Given the description of an element on the screen output the (x, y) to click on. 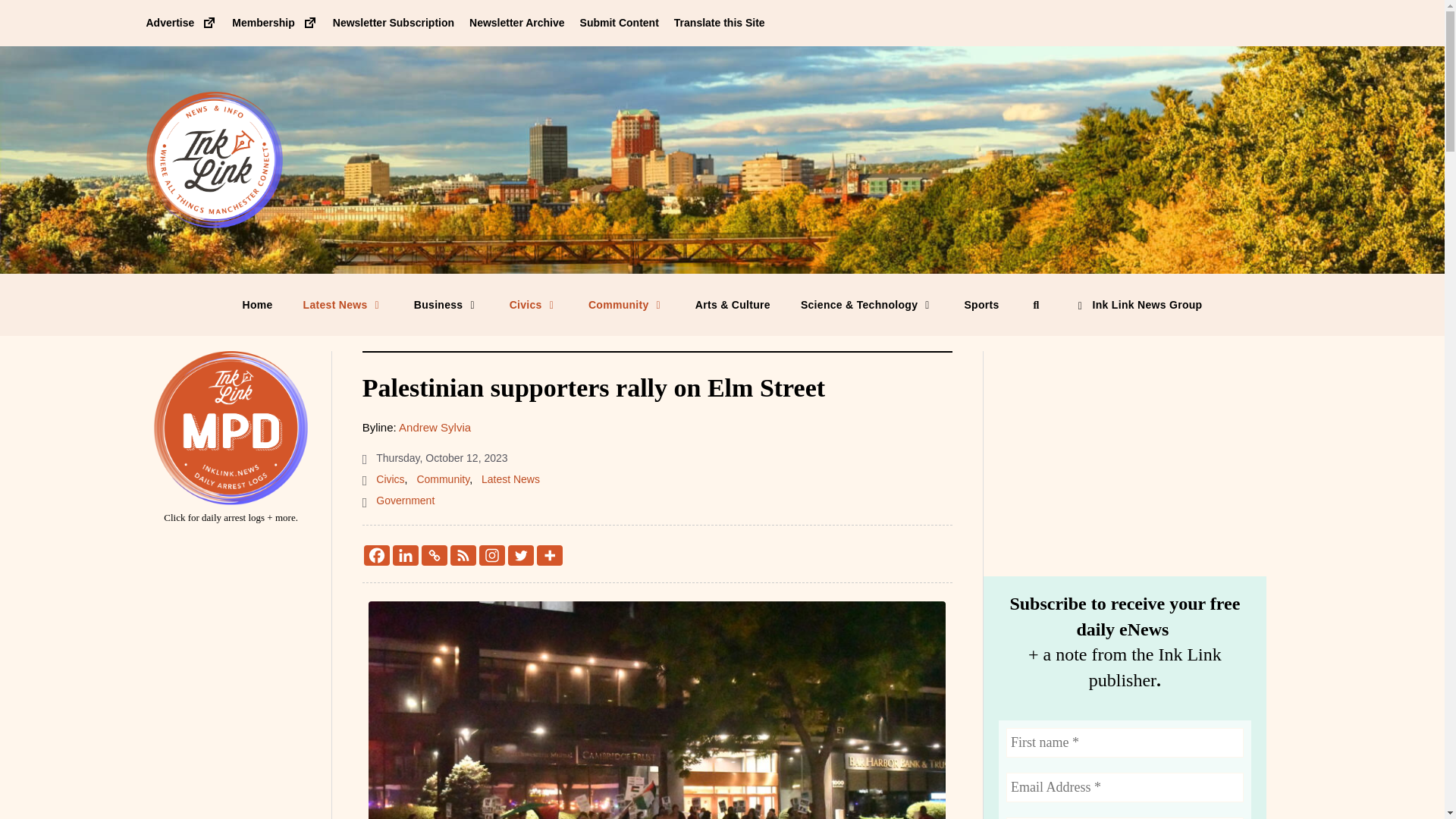
Community (626, 304)
Translate this Site (719, 22)
More (549, 555)
Linkedin (406, 555)
Copy Link (434, 555)
Instagram (492, 555)
Membership (274, 22)
Twitter (521, 555)
Business (446, 304)
Ink Link News Group (1137, 304)
